Given the description of an element on the screen output the (x, y) to click on. 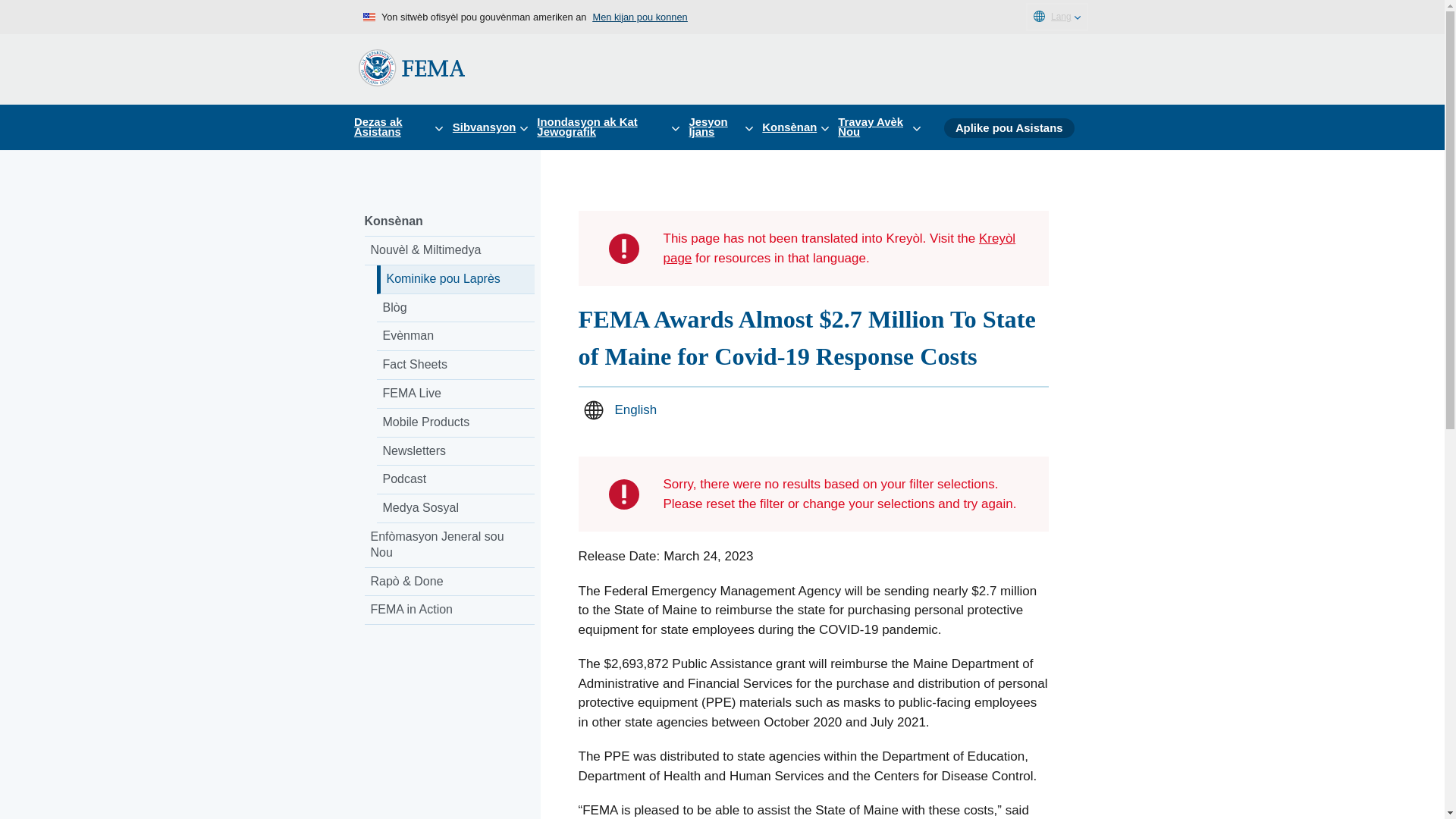
FEMA logo (411, 67)
Lang (1056, 16)
Men kijan pou konnen (639, 17)
Ale nan kontni prensipal la (16, 16)
Dezas ak Asistans (402, 126)
